Given the description of an element on the screen output the (x, y) to click on. 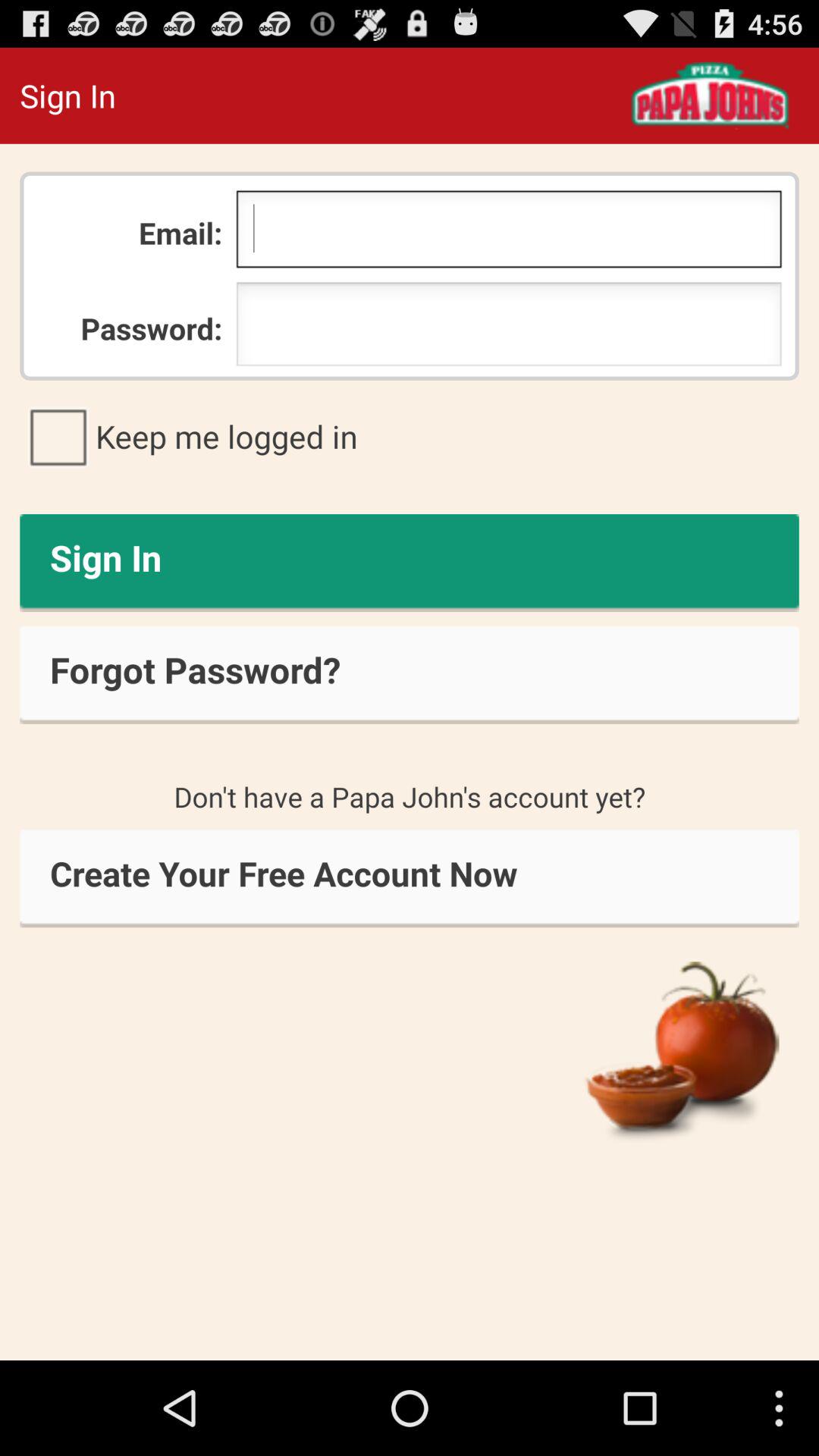
turn on the forgot password? icon (409, 675)
